Given the description of an element on the screen output the (x, y) to click on. 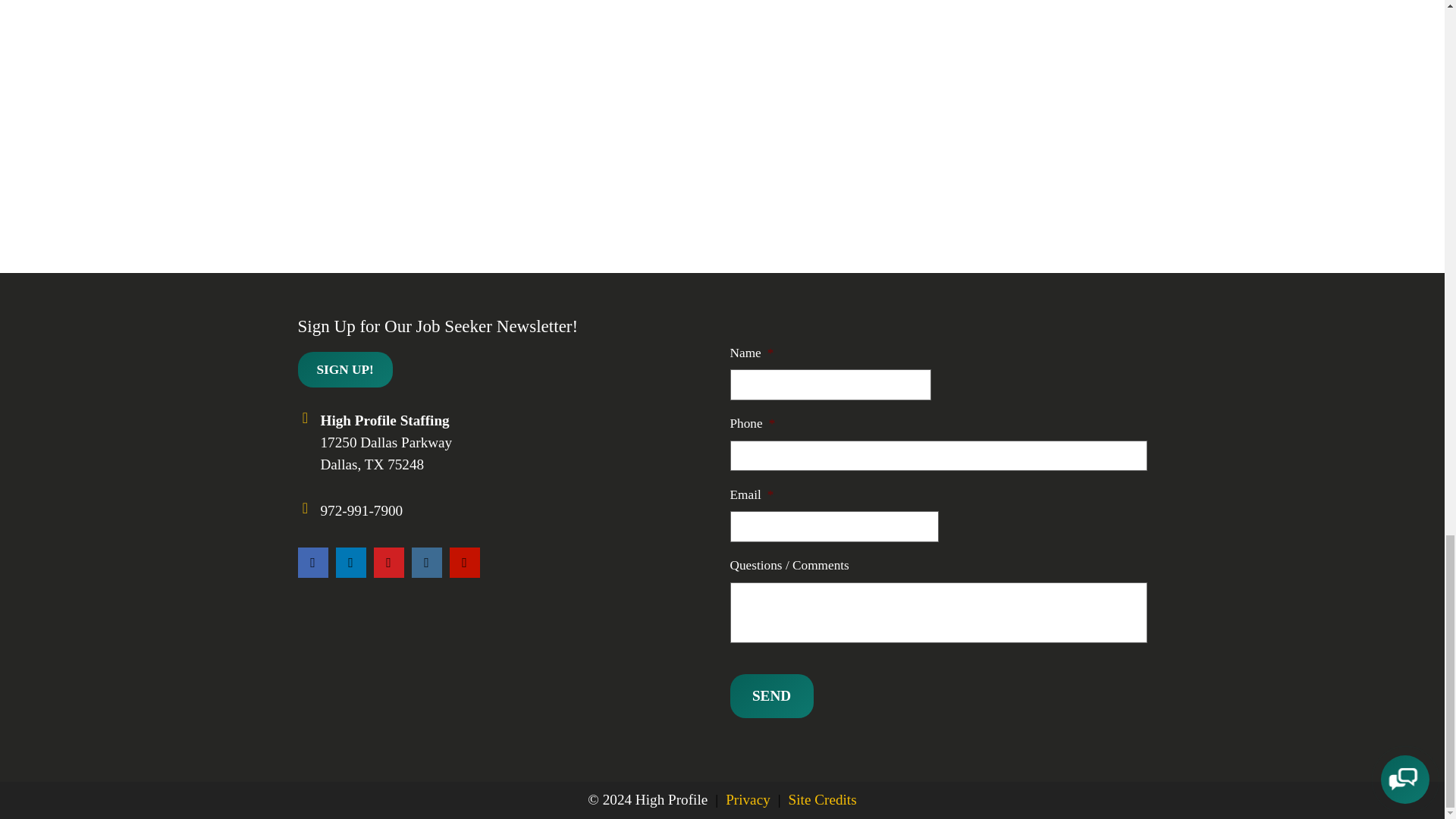
Send (770, 696)
Subscribe to High Profile on YouTube (387, 562)
Connect with High Profile on LinkedIn (349, 562)
Follow High Profile on Facebook (312, 562)
Follow High Profile on Instagram (425, 562)
Check out High Profile on Yelp (463, 562)
